Given the description of an element on the screen output the (x, y) to click on. 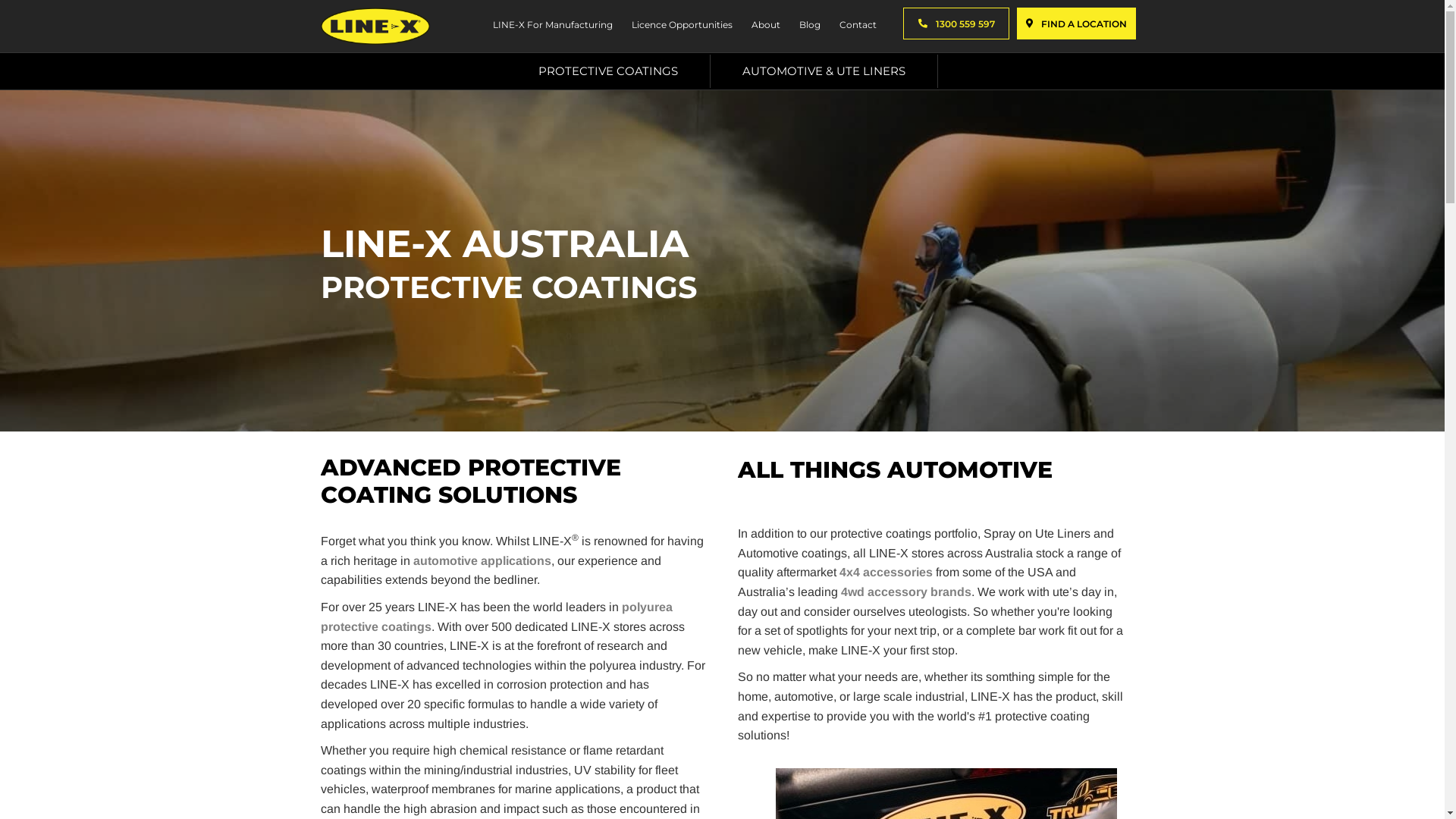
Line-X-Logo Element type: hover (374, 25)
Licence Opportunities Element type: text (680, 26)
4x4 accessories Element type: text (884, 571)
FIND A LOCATION Element type: text (1075, 23)
AUTOMOTIVE & UTE LINERS Element type: text (824, 70)
Blog Element type: text (807, 26)
automotive applications Element type: text (481, 560)
polyurea protective coatings Element type: text (495, 616)
PROTECTIVE COATINGS Element type: text (608, 70)
LINE-X For Manufacturing Element type: text (550, 26)
1300 559 597 Element type: text (955, 23)
Contact Element type: text (856, 26)
4wd accessory brands Element type: text (905, 591)
About Element type: text (763, 26)
